Given the description of an element on the screen output the (x, y) to click on. 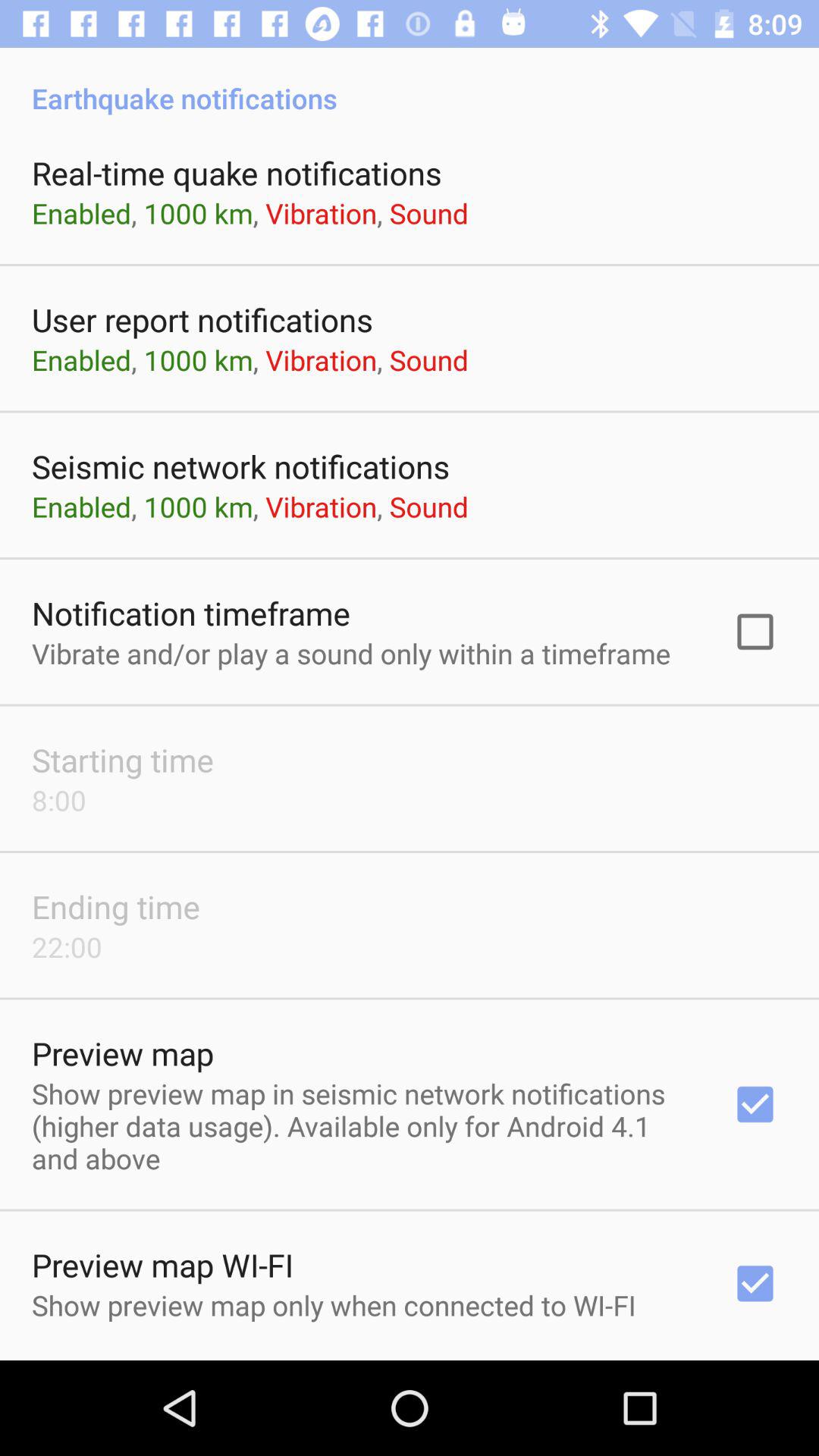
click the earthquake notifications icon (409, 82)
